Given the description of an element on the screen output the (x, y) to click on. 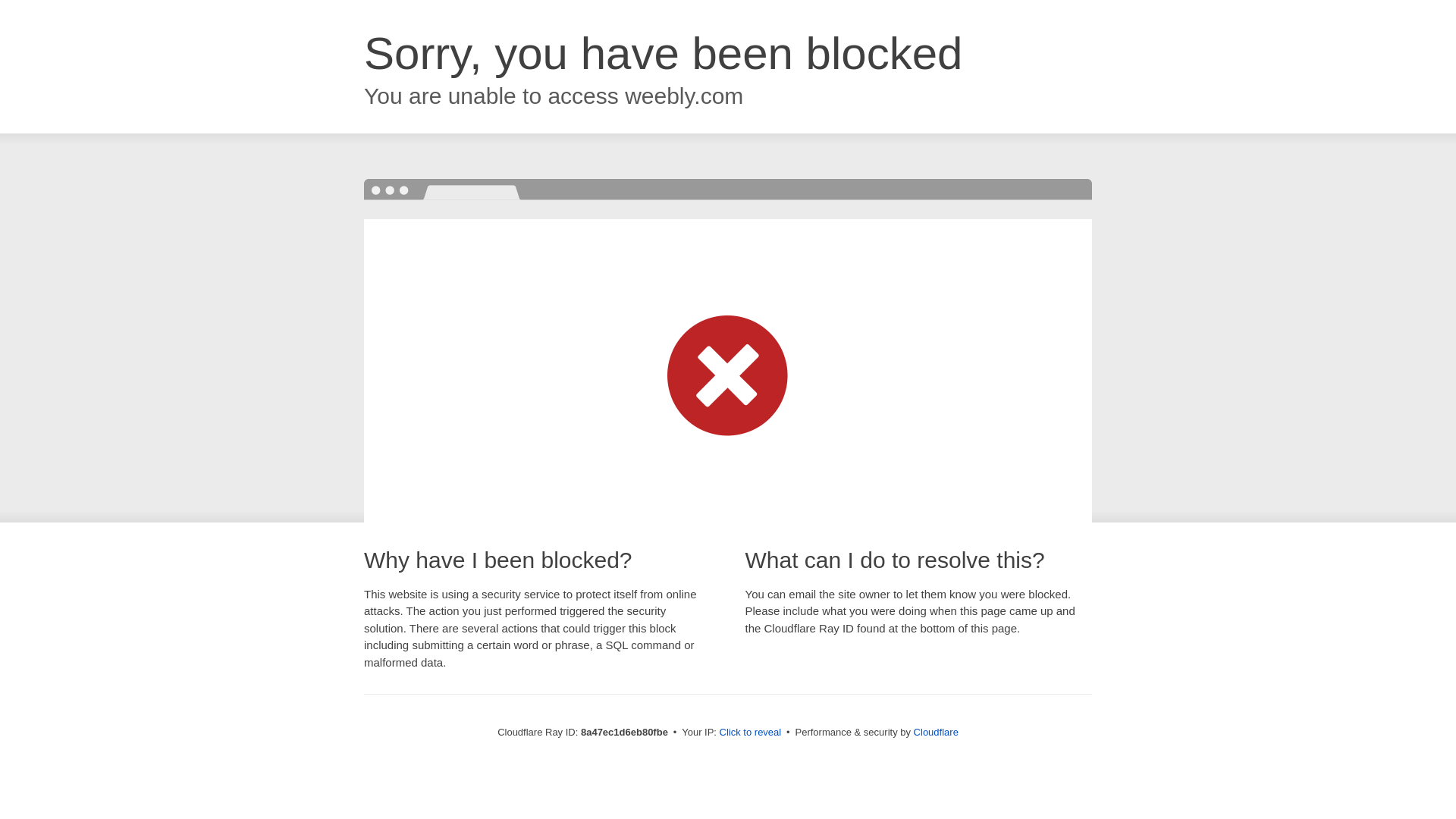
Cloudflare (936, 731)
Click to reveal (750, 732)
